Given the description of an element on the screen output the (x, y) to click on. 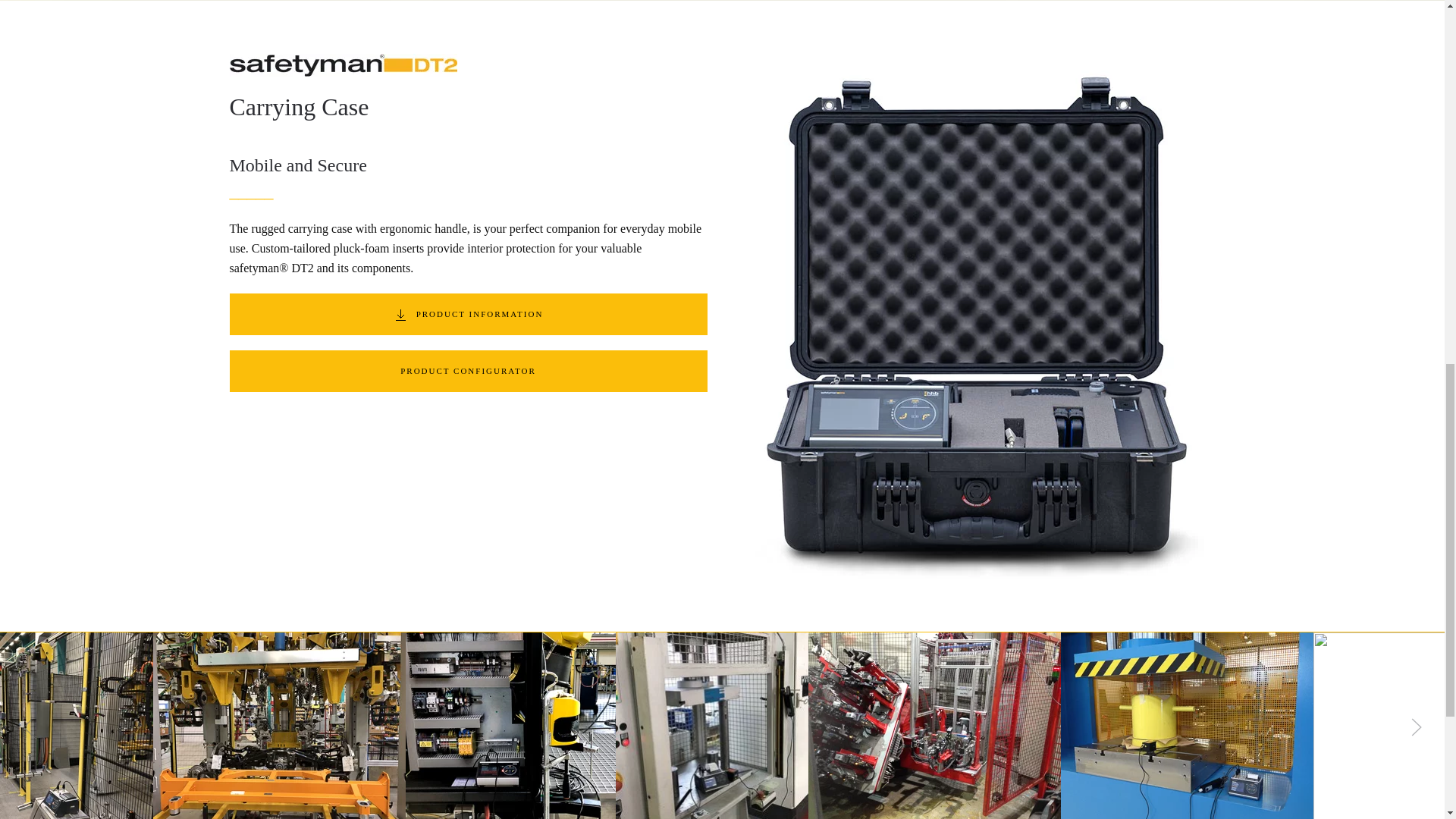
PRODUCT CONFIGURATOR (467, 371)
PRODUCT INFORMATION (467, 313)
